Given the description of an element on the screen output the (x, y) to click on. 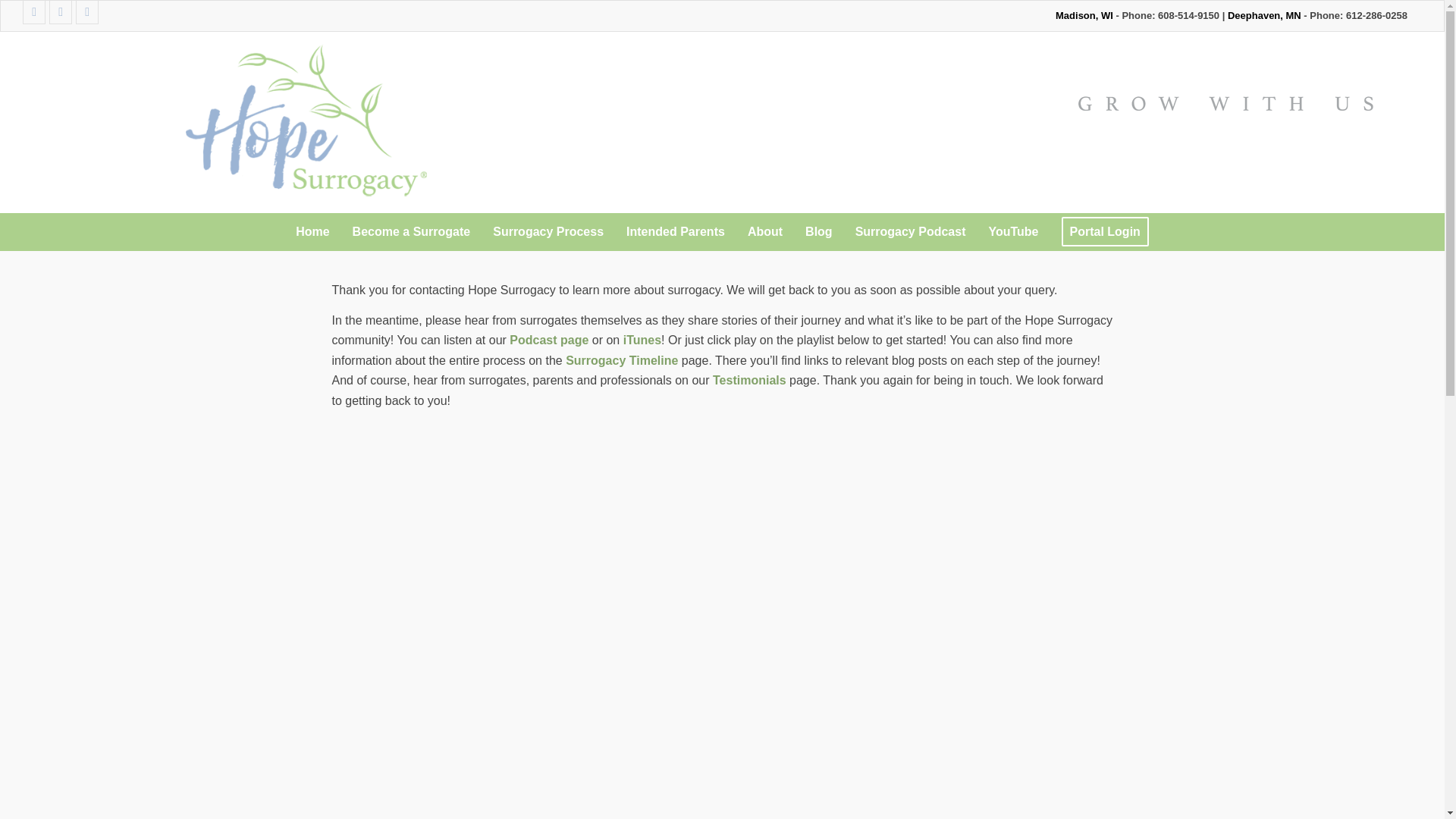
YouTube (1012, 231)
Surrogacy Process (547, 231)
Youtube (87, 11)
iTunes (642, 339)
Deephaven, MN (1264, 15)
Become a Surrogate (410, 231)
Surrogacy Podcast (910, 231)
Portal Login (1104, 231)
608-514-9150 (1188, 15)
Home (311, 231)
